Given the description of an element on the screen output the (x, y) to click on. 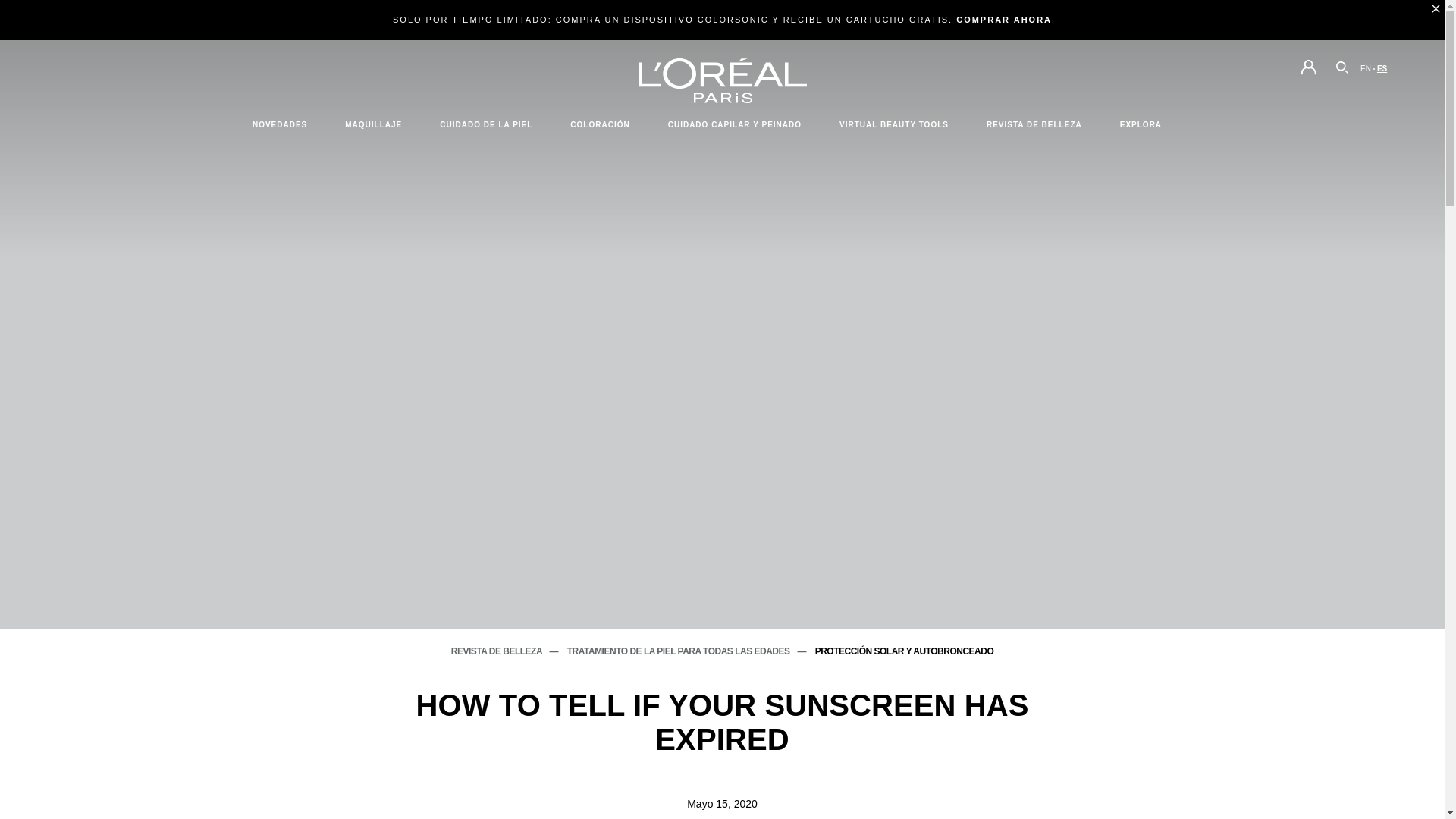
NOVEDADES (279, 124)
MAQUILLAJE (373, 124)
COMPRAR AHORA (1003, 19)
